Given the description of an element on the screen output the (x, y) to click on. 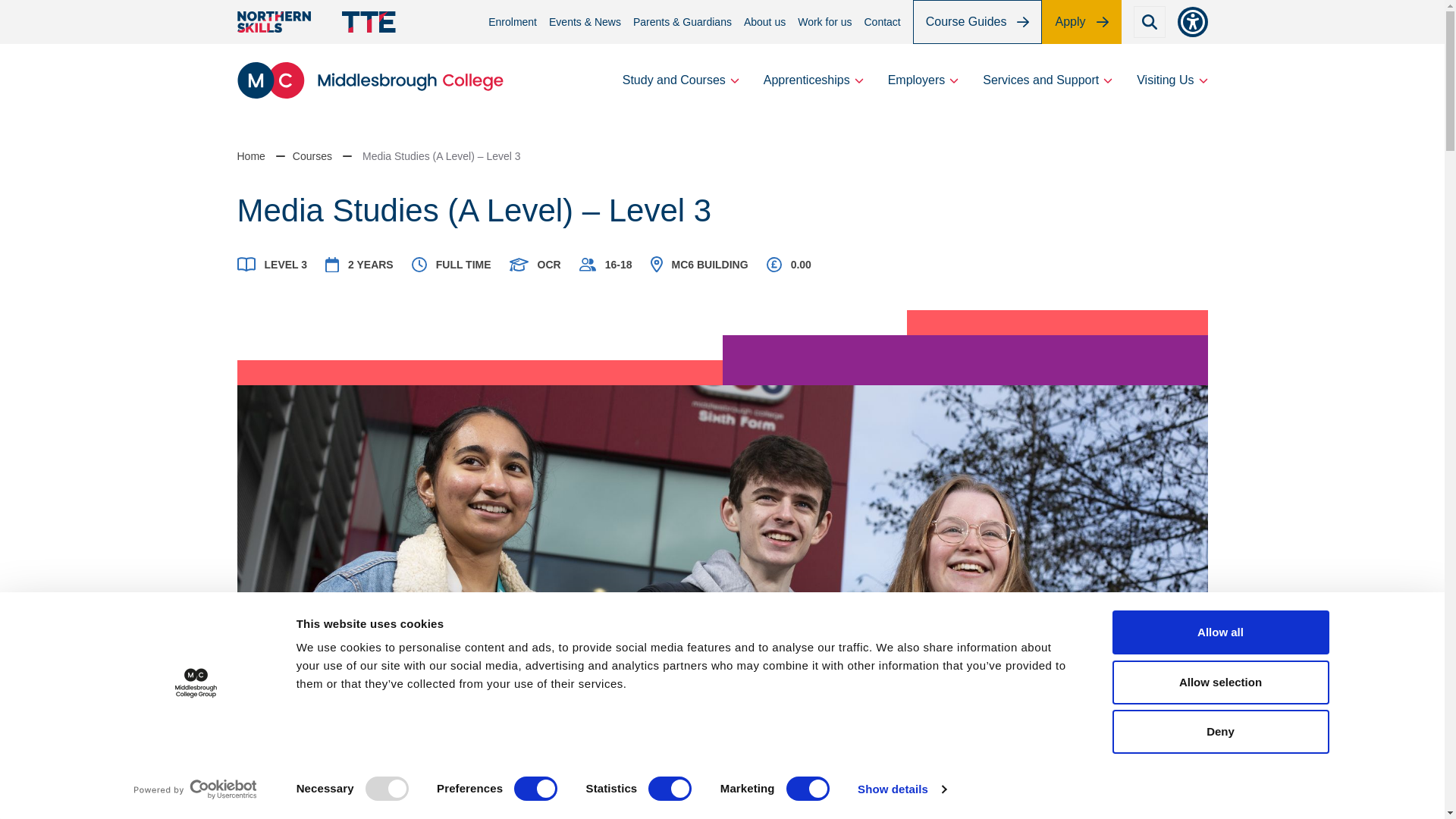
Show details (900, 789)
Northern Skills logo (272, 21)
